Given the description of an element on the screen output the (x, y) to click on. 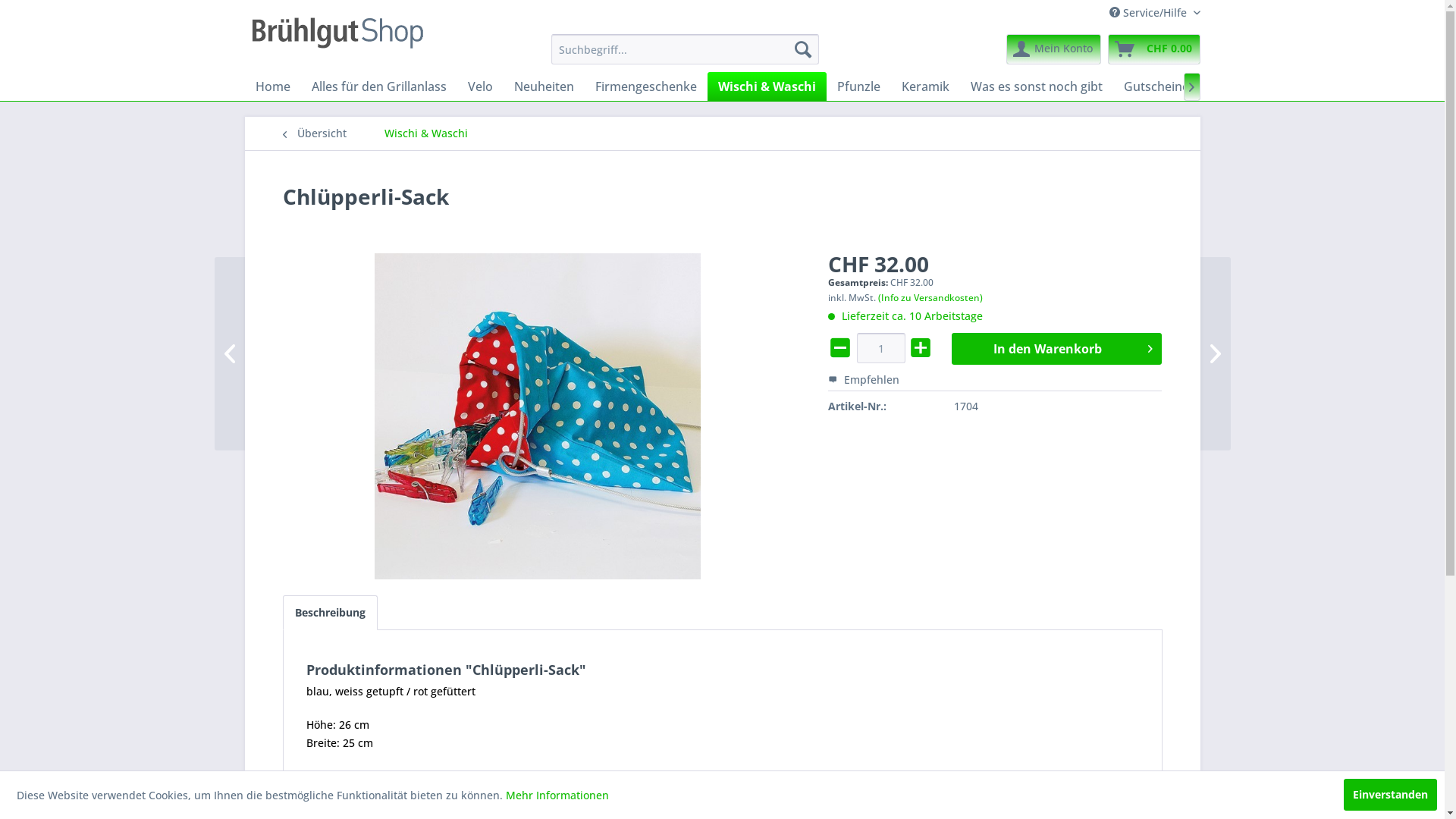
Keramik Element type: text (924, 86)
Mehr Informationen Element type: text (556, 794)
Lecker & gut Element type: text (1246, 86)
Pfunzle Element type: text (858, 86)
Home Element type: text (272, 86)
Wischi & Waschi Element type: text (425, 133)
Wischi & Waschi Element type: text (765, 86)
Velo Element type: text (479, 86)
Was es sonst noch gibt Element type: text (1036, 86)
CHF 0.00 Element type: text (1153, 49)
Firmengeschenke Element type: text (644, 86)
Beschreibung Element type: text (329, 612)
Gutscheine Element type: text (1156, 86)
Einverstanden Element type: text (1390, 794)
Empfehlen Element type: text (863, 379)
Neuheiten Element type: text (543, 86)
(Info zu Versandkosten) Element type: text (930, 297)
Mein Konto Element type: text (1052, 49)
In den Warenkorb Element type: text (1056, 348)
